Given the description of an element on the screen output the (x, y) to click on. 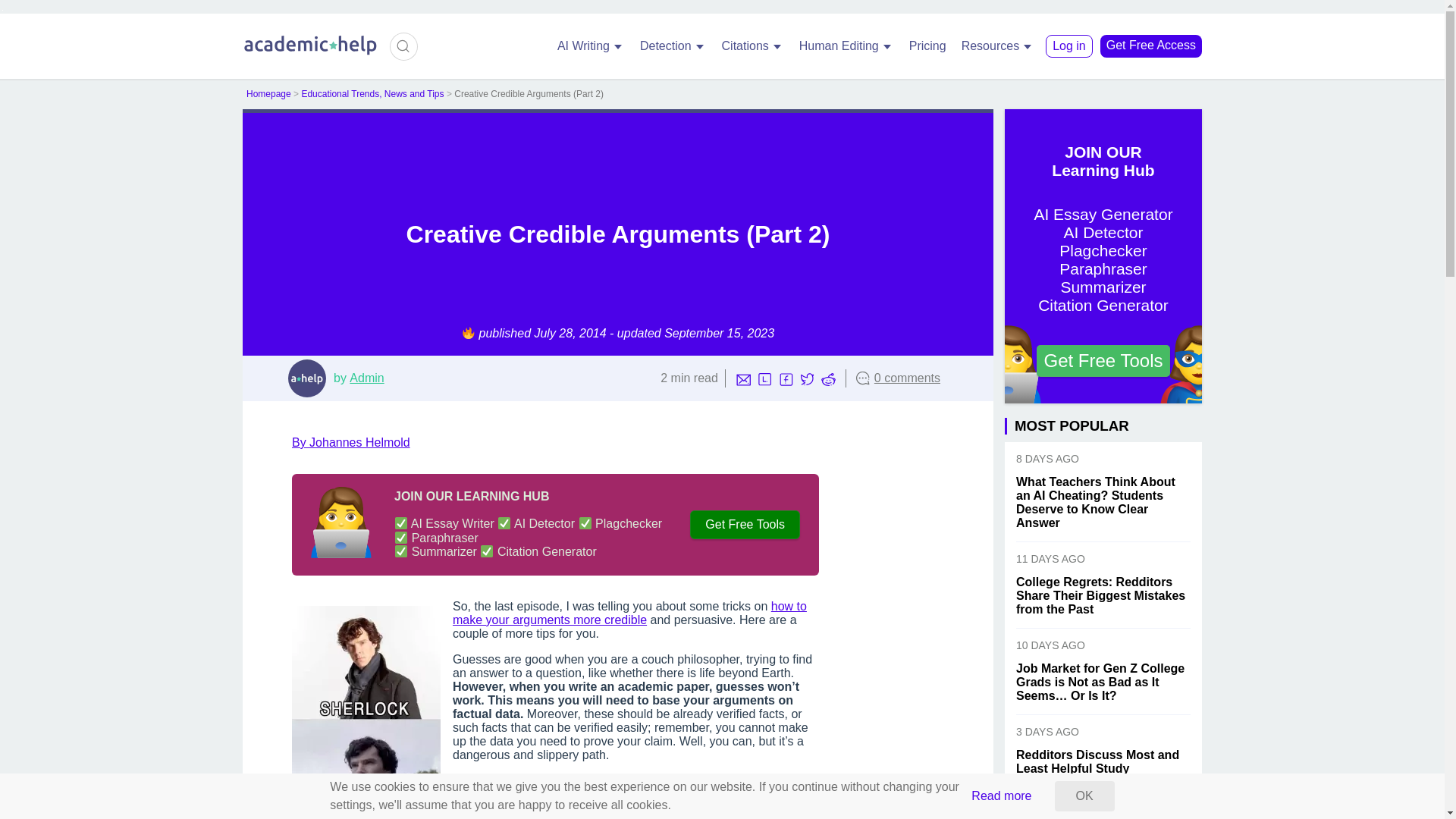
Log in (1069, 46)
Human Editing (846, 45)
Go to AcademicHelp.net. (268, 93)
Detection (672, 45)
AI Writing (590, 45)
AcademicHelp.net (310, 51)
Resources (997, 45)
Citations (753, 45)
How to make you arguments credible? (629, 612)
Get Free Access (1151, 46)
